Given the description of an element on the screen output the (x, y) to click on. 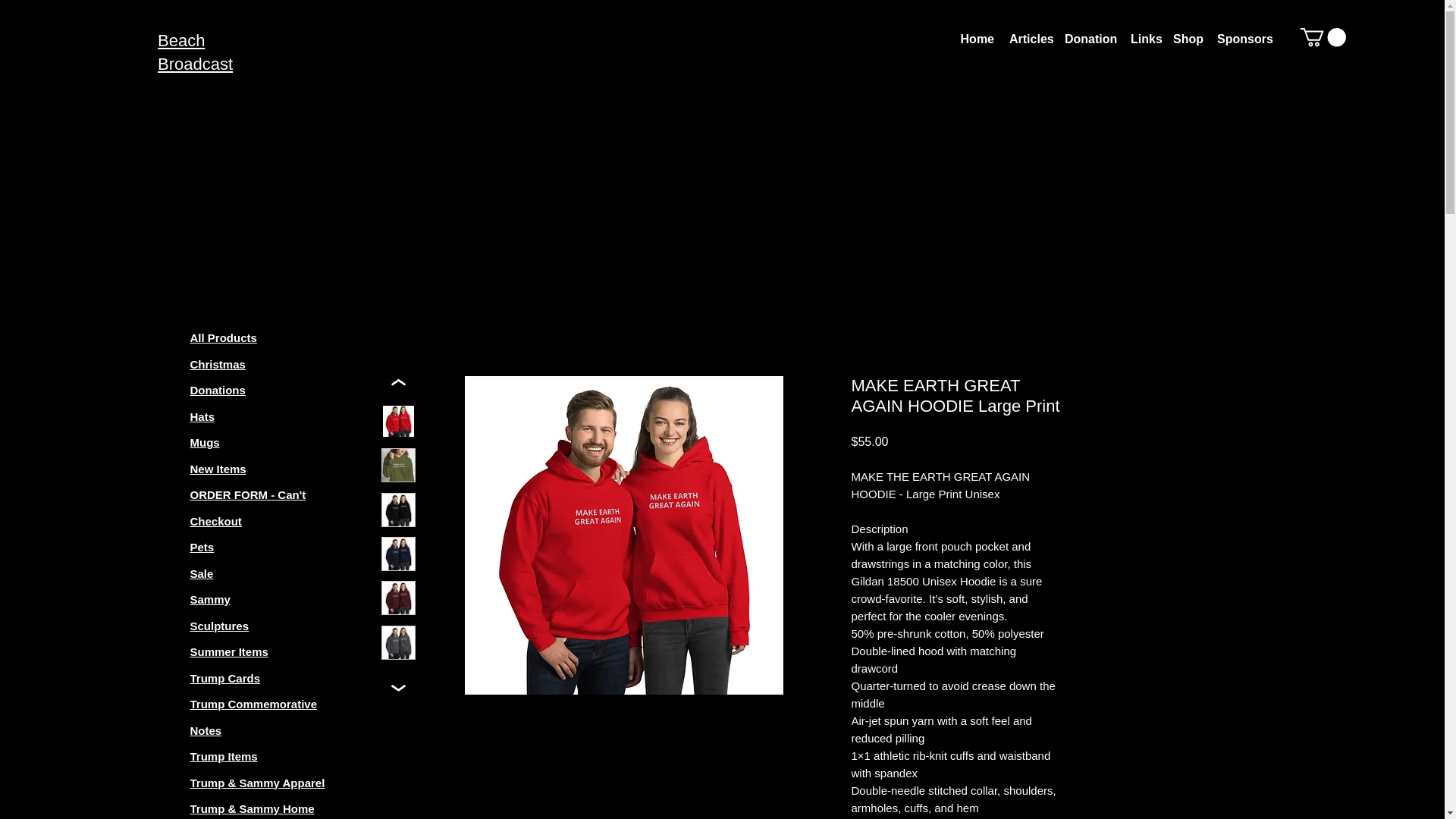
Trump Items (223, 756)
Trump Cards (224, 677)
Christmas (216, 364)
Beach Broadcast (194, 52)
New Items (217, 468)
Articles (1029, 38)
Sale (200, 573)
Links (1144, 38)
Sculptures (218, 625)
Donations (216, 390)
